Given the description of an element on the screen output the (x, y) to click on. 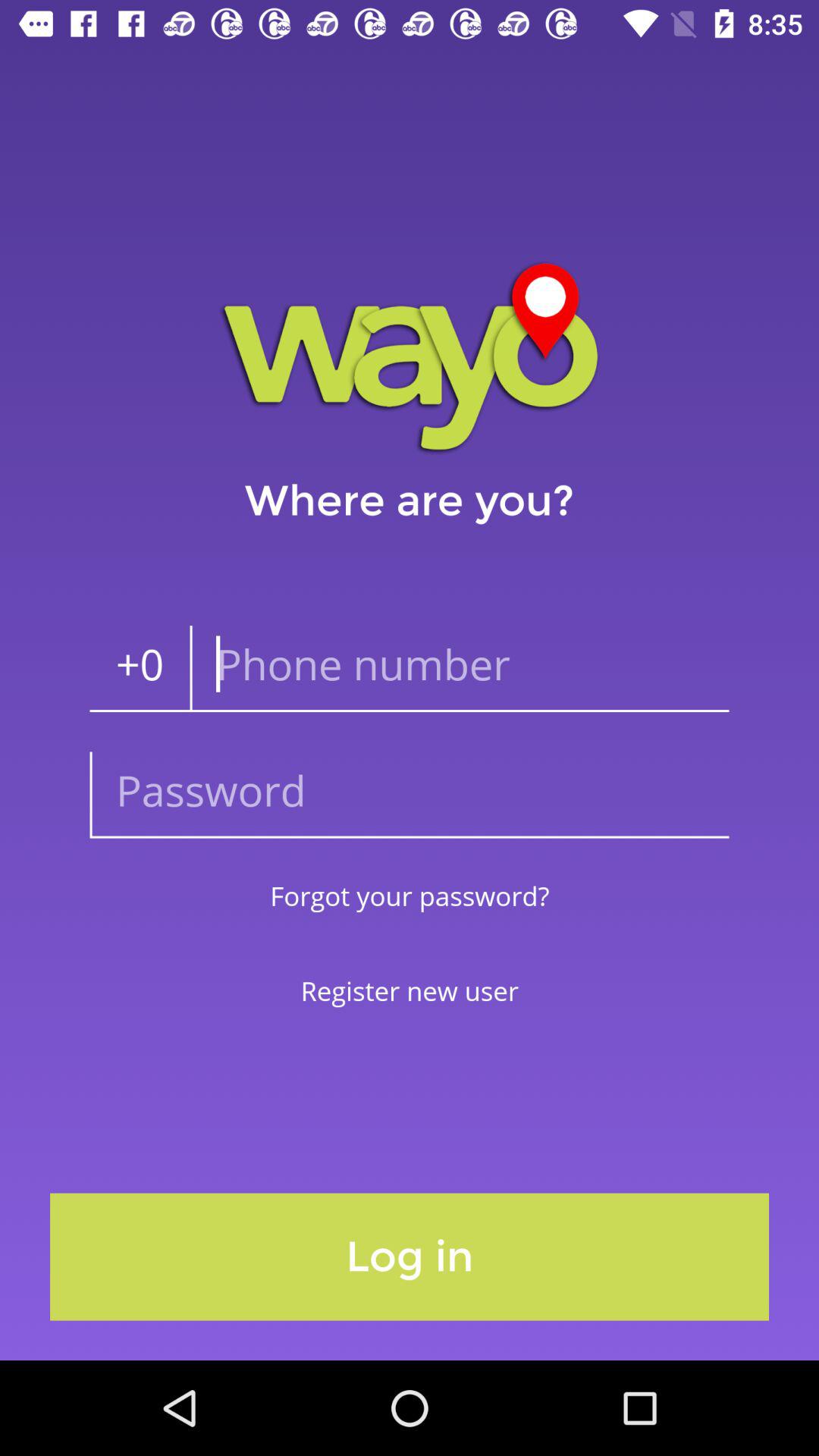
launch the icon below the where are you? icon (459, 668)
